Given the description of an element on the screen output the (x, y) to click on. 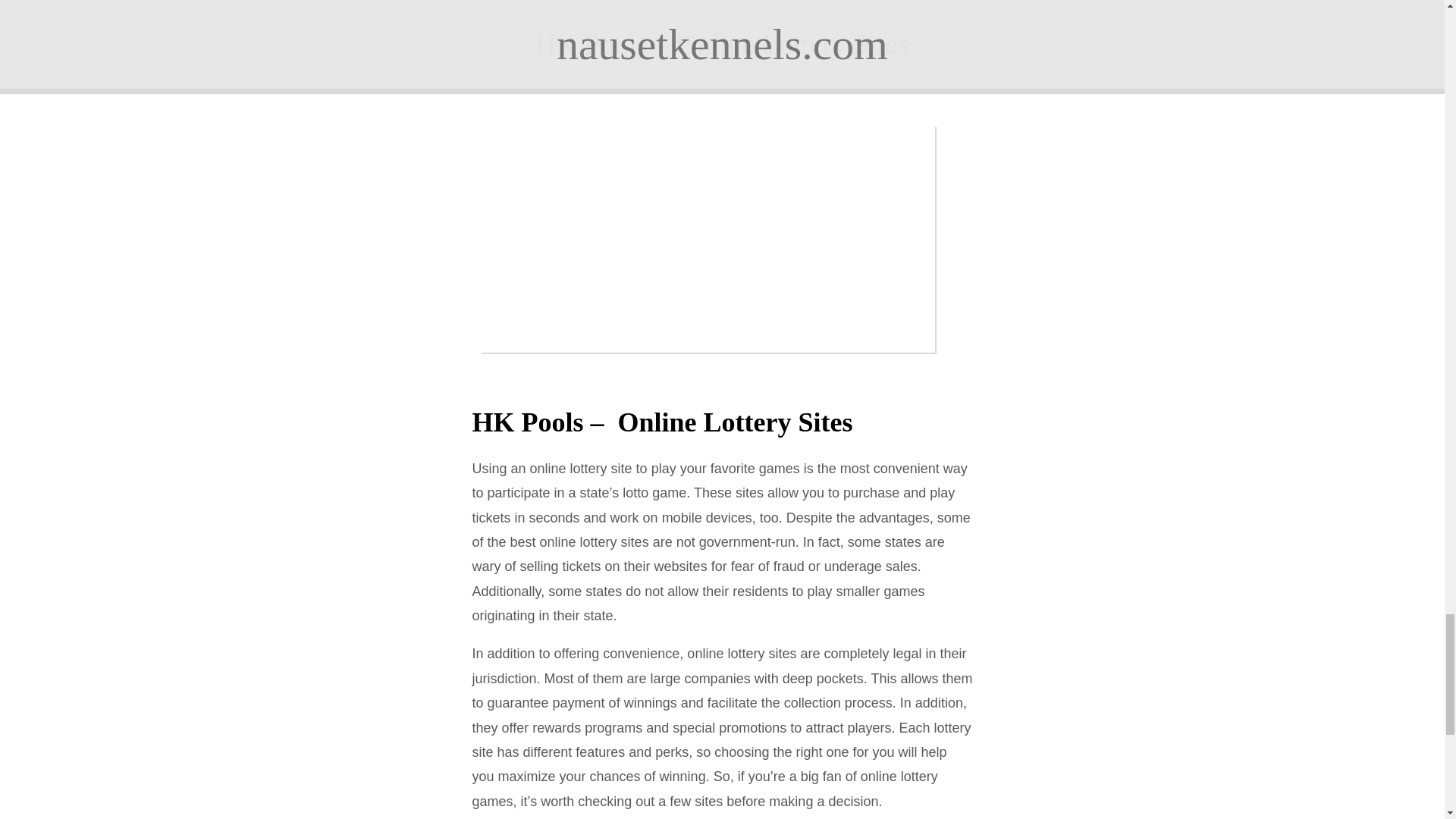
togel (803, 2)
December 22, 2021 (688, 2)
